Given the description of an element on the screen output the (x, y) to click on. 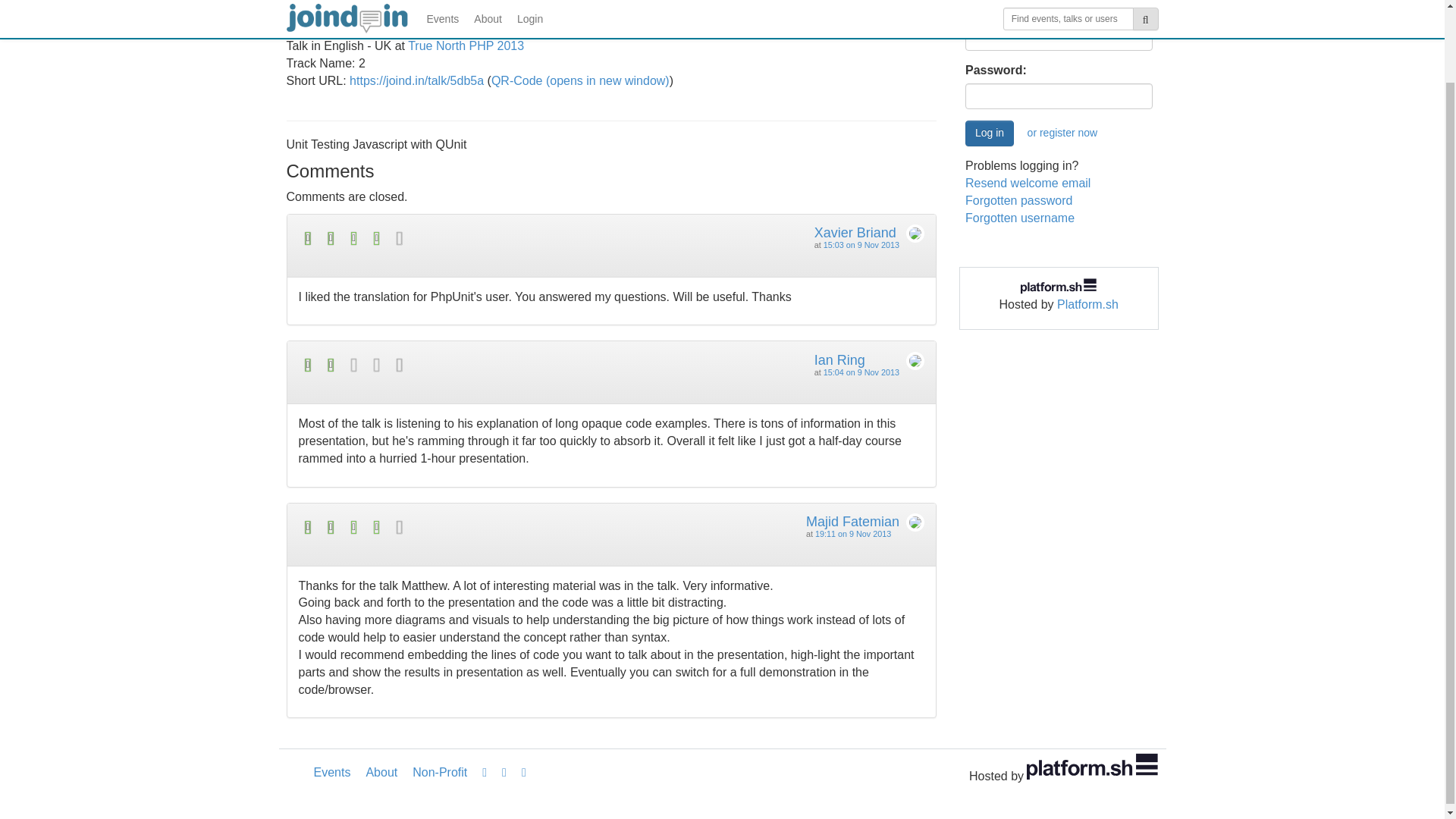
15:03 on 9 Nov 2013 (861, 244)
Rated 4 (454, 238)
About (381, 772)
True North PHP 2013 (465, 45)
19:11 on 9 Nov 2013 (853, 533)
Non-Profit (439, 772)
Log in (989, 133)
Majid Fatemian (852, 521)
Log in (989, 133)
Forgotten password (1018, 200)
